Given the description of an element on the screen output the (x, y) to click on. 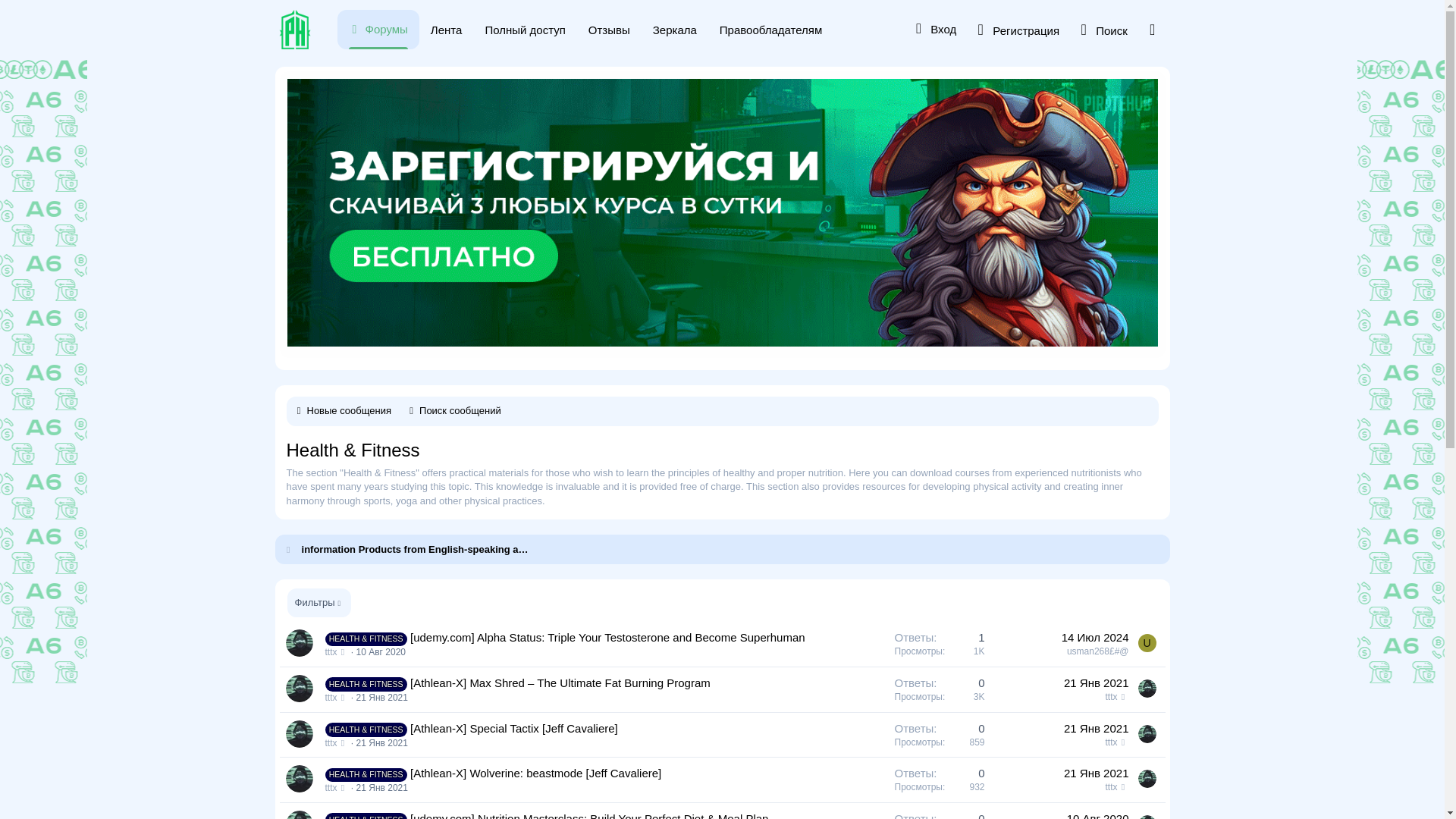
tttx (335, 652)
information Products from English-speaking authors (415, 549)
U (1146, 642)
